Given the description of an element on the screen output the (x, y) to click on. 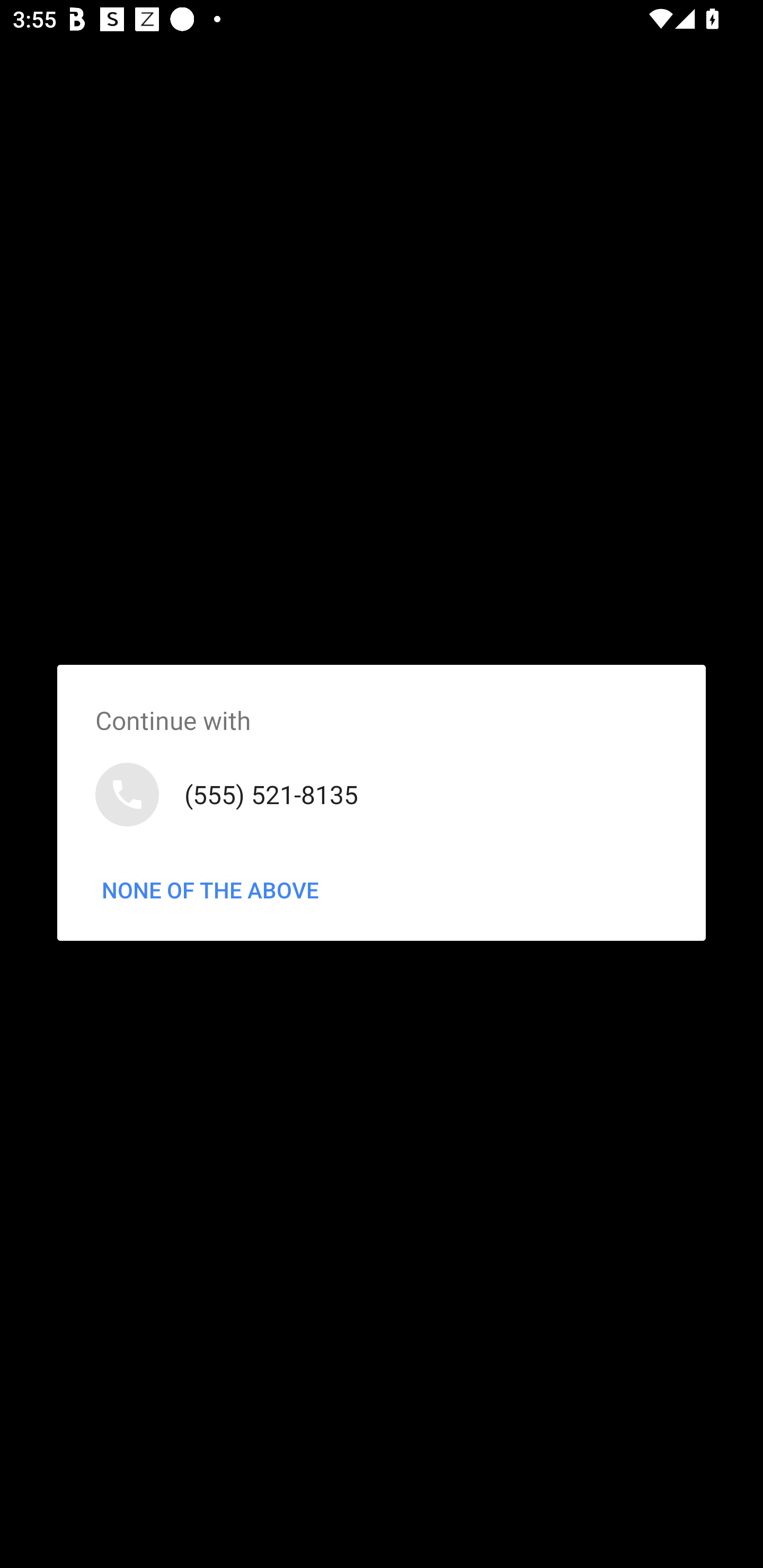
(555) 521-8135 (381, 793)
NONE OF THE ABOVE (210, 889)
